Given the description of an element on the screen output the (x, y) to click on. 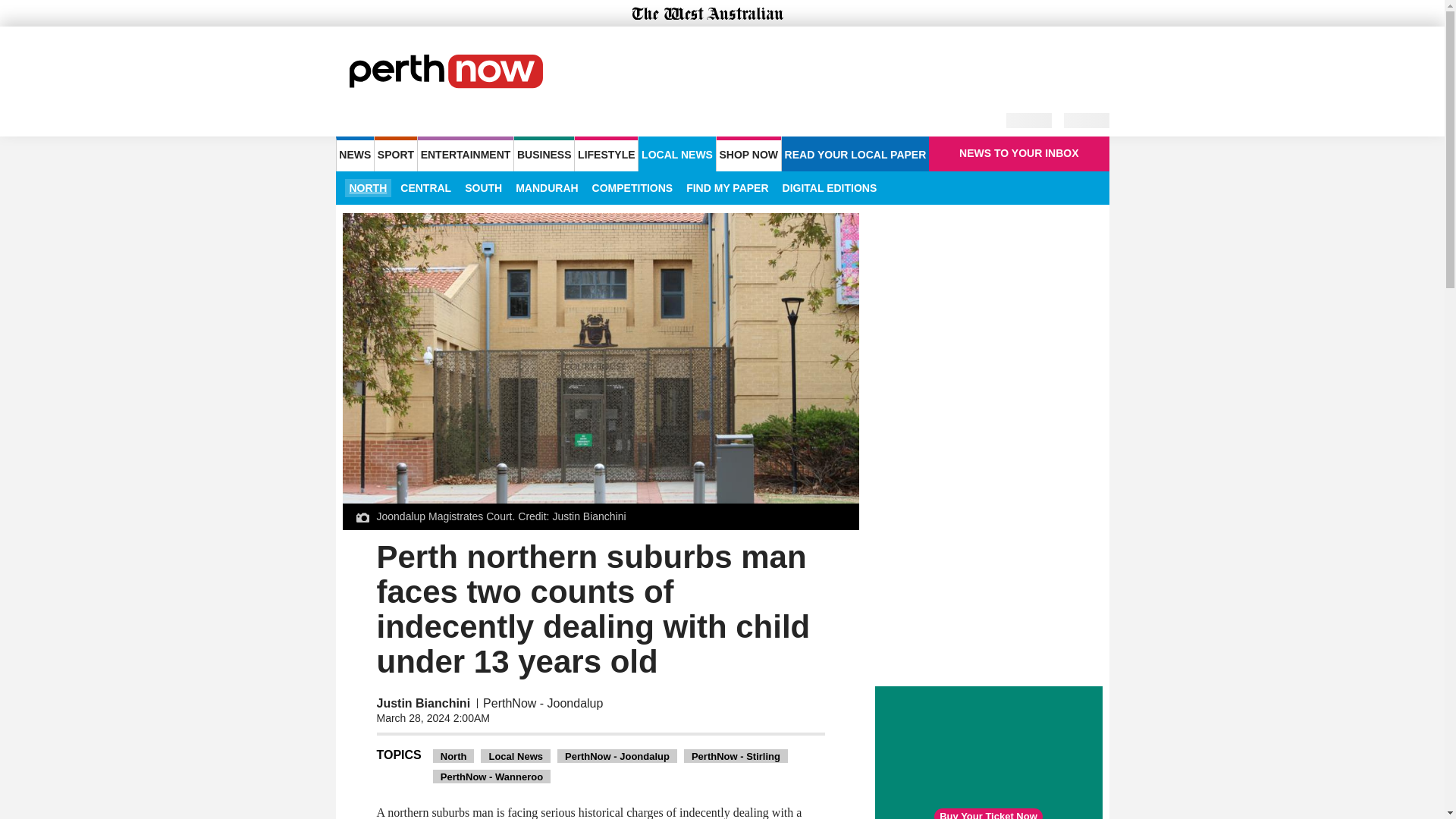
BUSINESS (543, 153)
ENTERTAINMENT (465, 153)
NEWS (354, 153)
SPORT (395, 153)
